Given the description of an element on the screen output the (x, y) to click on. 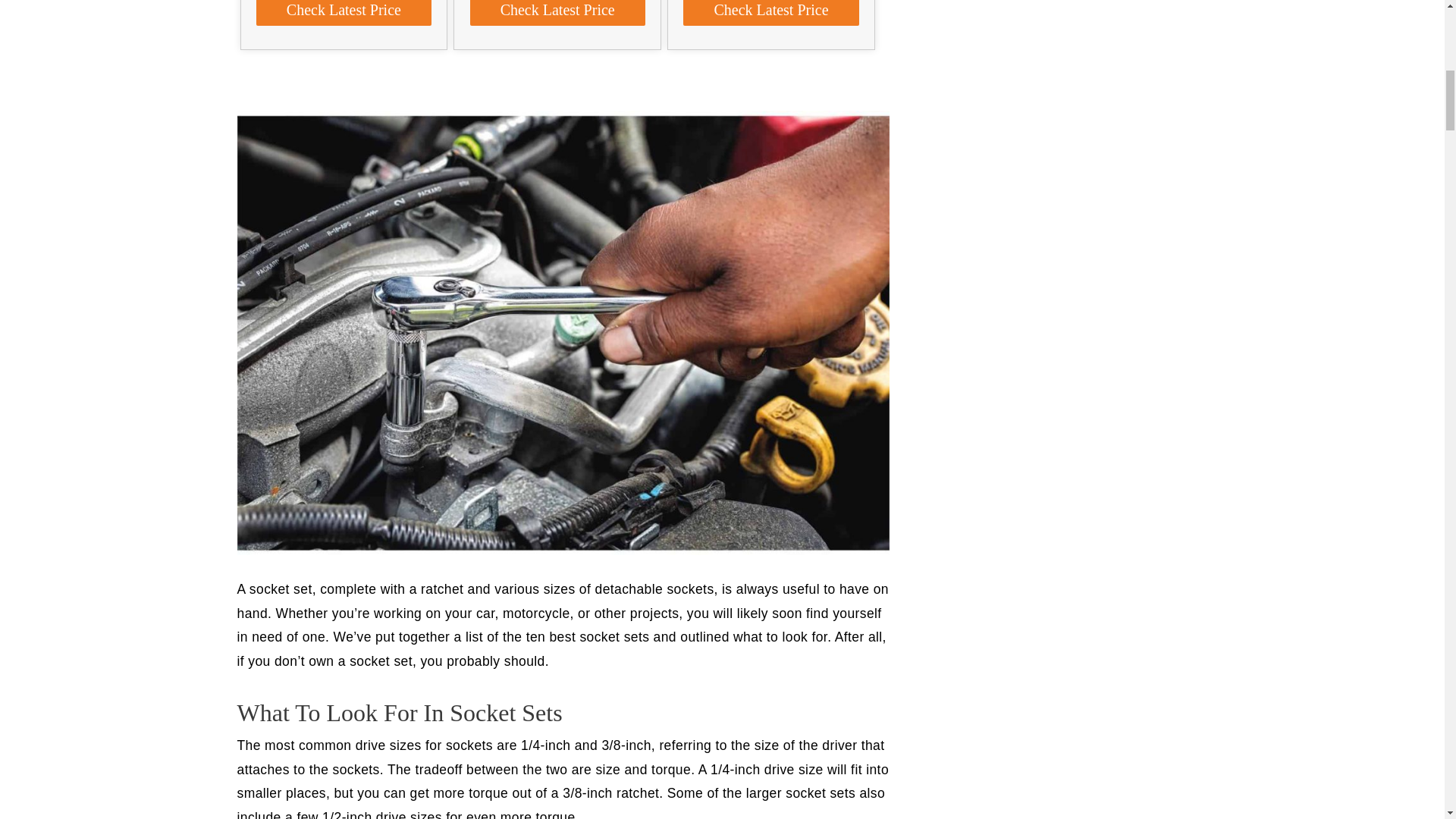
Check Latest Price (770, 12)
Check Latest Price (343, 12)
Check Latest Price (557, 12)
